Given the description of an element on the screen output the (x, y) to click on. 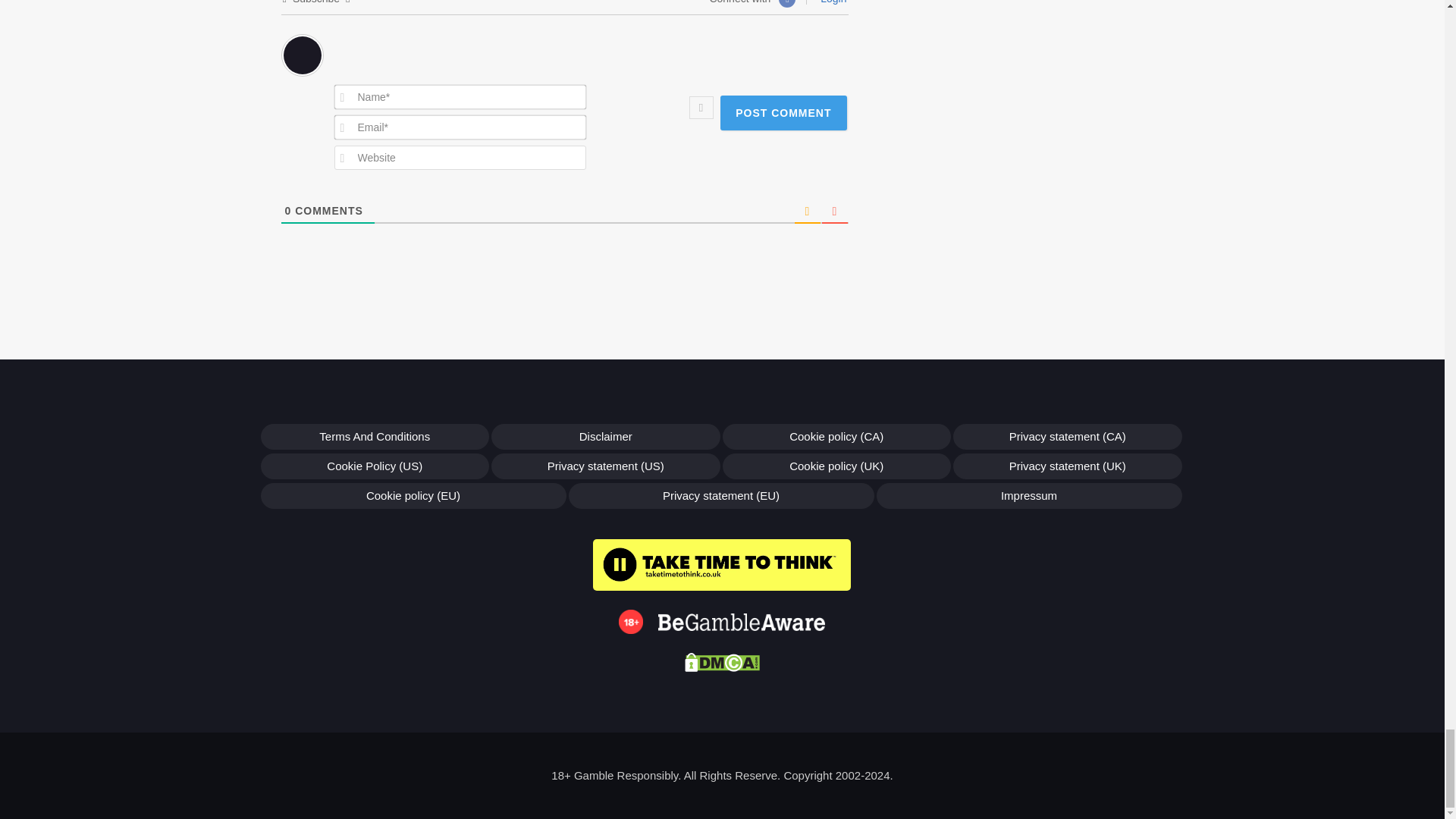
Post Comment (782, 112)
